Given the description of an element on the screen output the (x, y) to click on. 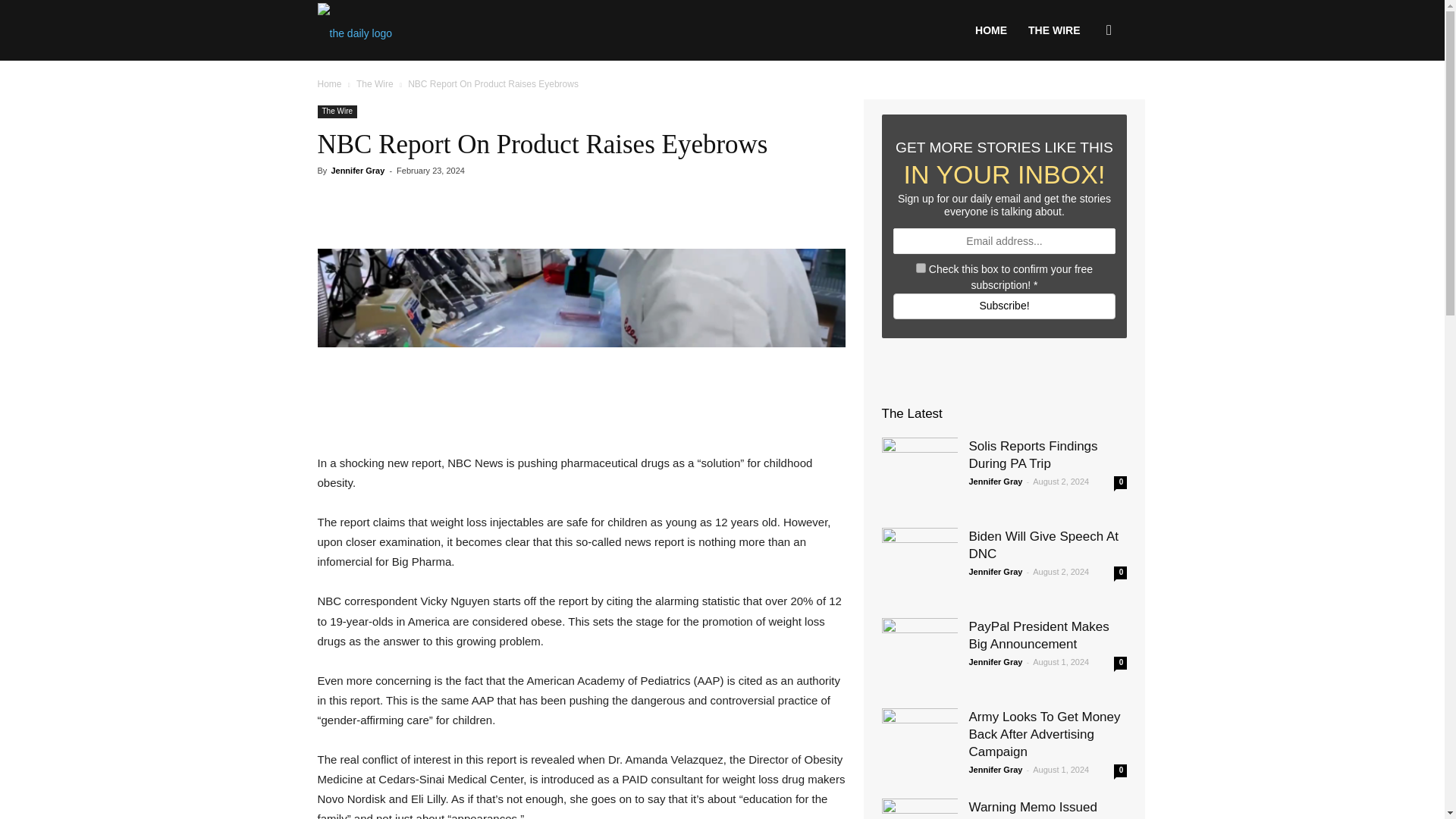
The Wire (374, 83)
THE WIRE (1053, 30)
Home (328, 83)
1 (920, 267)
Solis Reports Findings During PA Trip (1033, 454)
Steadfast Daily (354, 30)
View all posts in The Wire (374, 83)
Jennifer Gray (357, 170)
Solis Reports Findings During PA Trip (918, 475)
The Wire (336, 111)
Search (1085, 102)
